Given the description of an element on the screen output the (x, y) to click on. 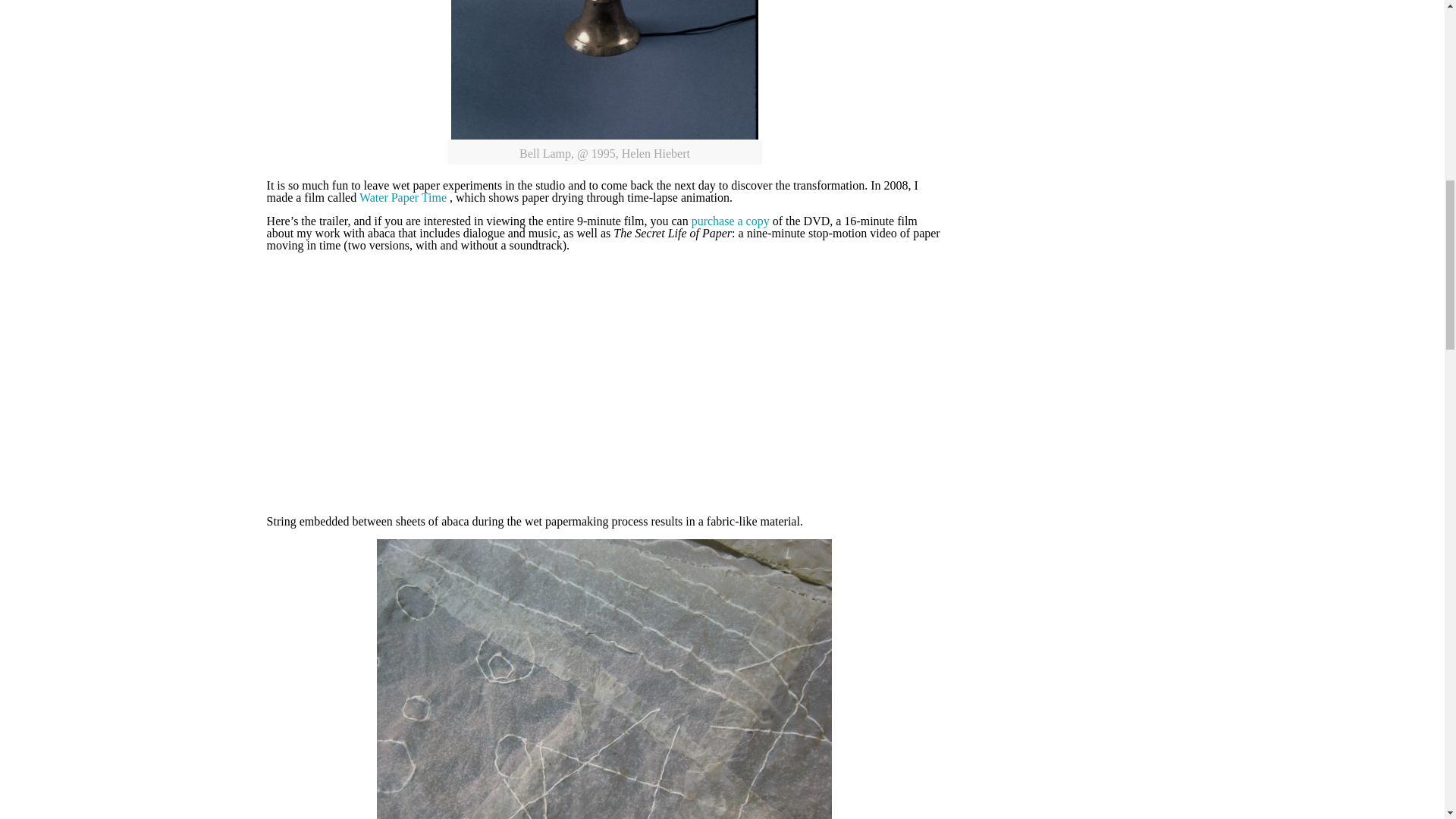
Water Paper Time (402, 196)
purchase a copy (730, 220)
